Given the description of an element on the screen output the (x, y) to click on. 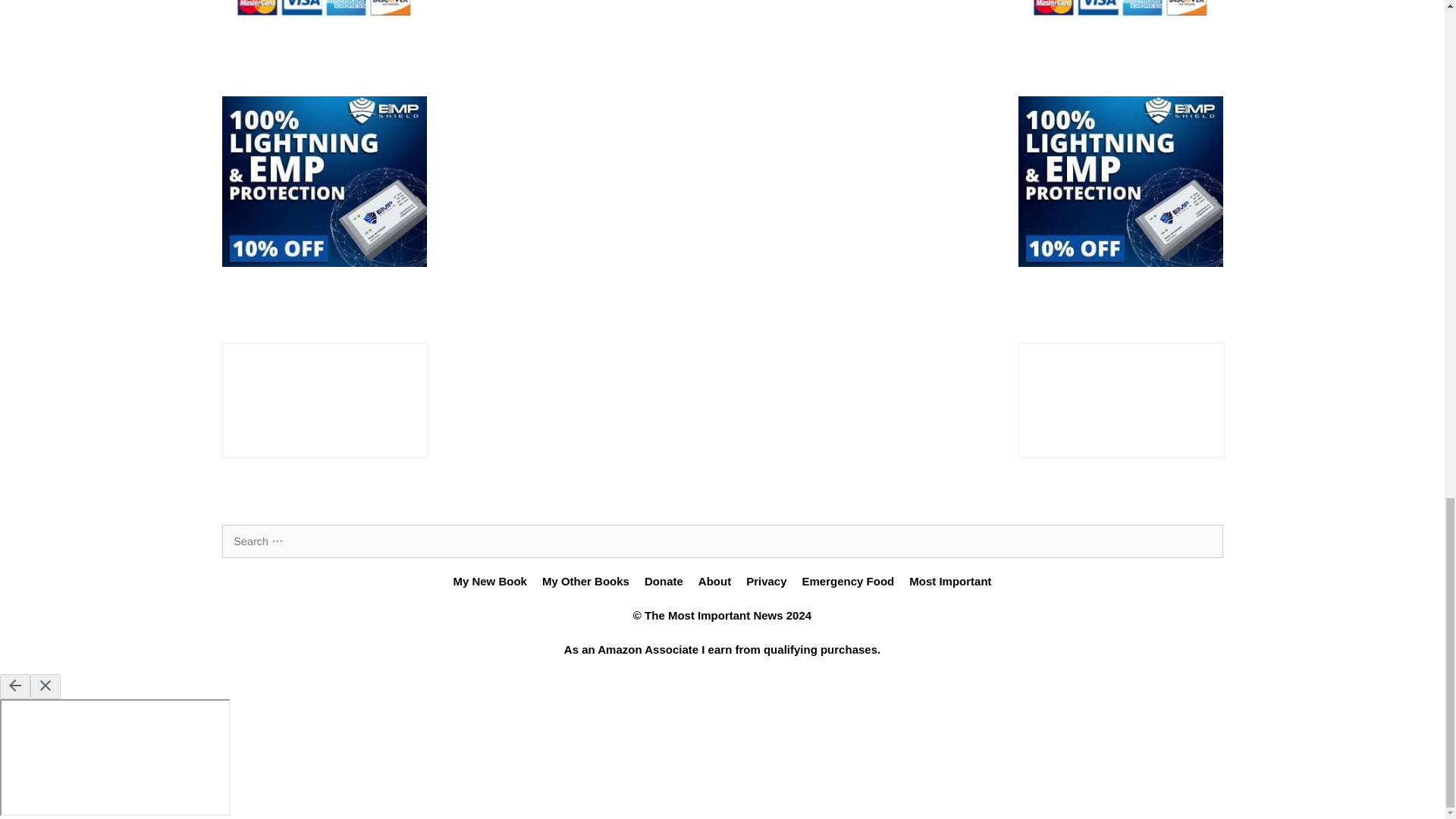
Donate (663, 581)
Emergency Food (848, 581)
Most Important (949, 581)
My Other Books (584, 581)
About (714, 581)
My New Book (489, 581)
Privacy (765, 581)
